Given the description of an element on the screen output the (x, y) to click on. 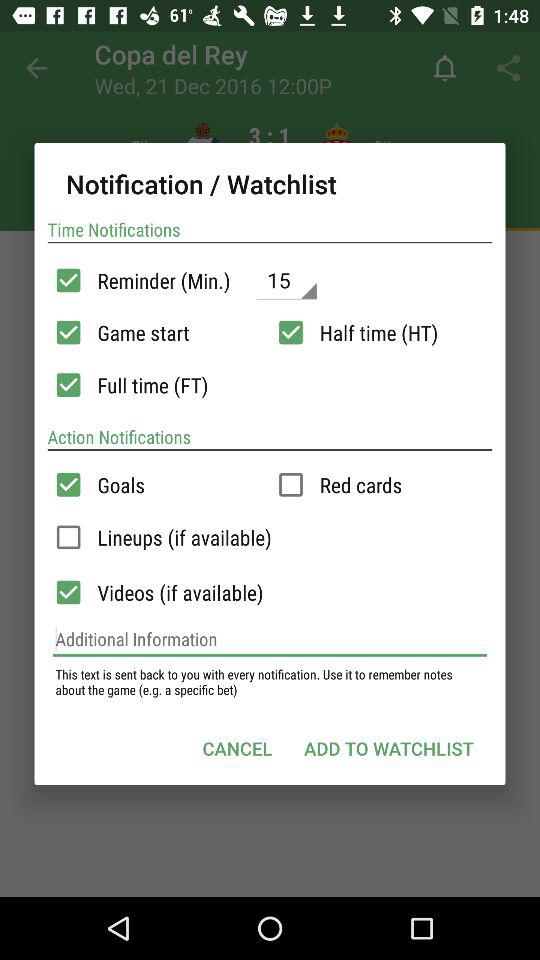
notiication option box (68, 385)
